Given the description of an element on the screen output the (x, y) to click on. 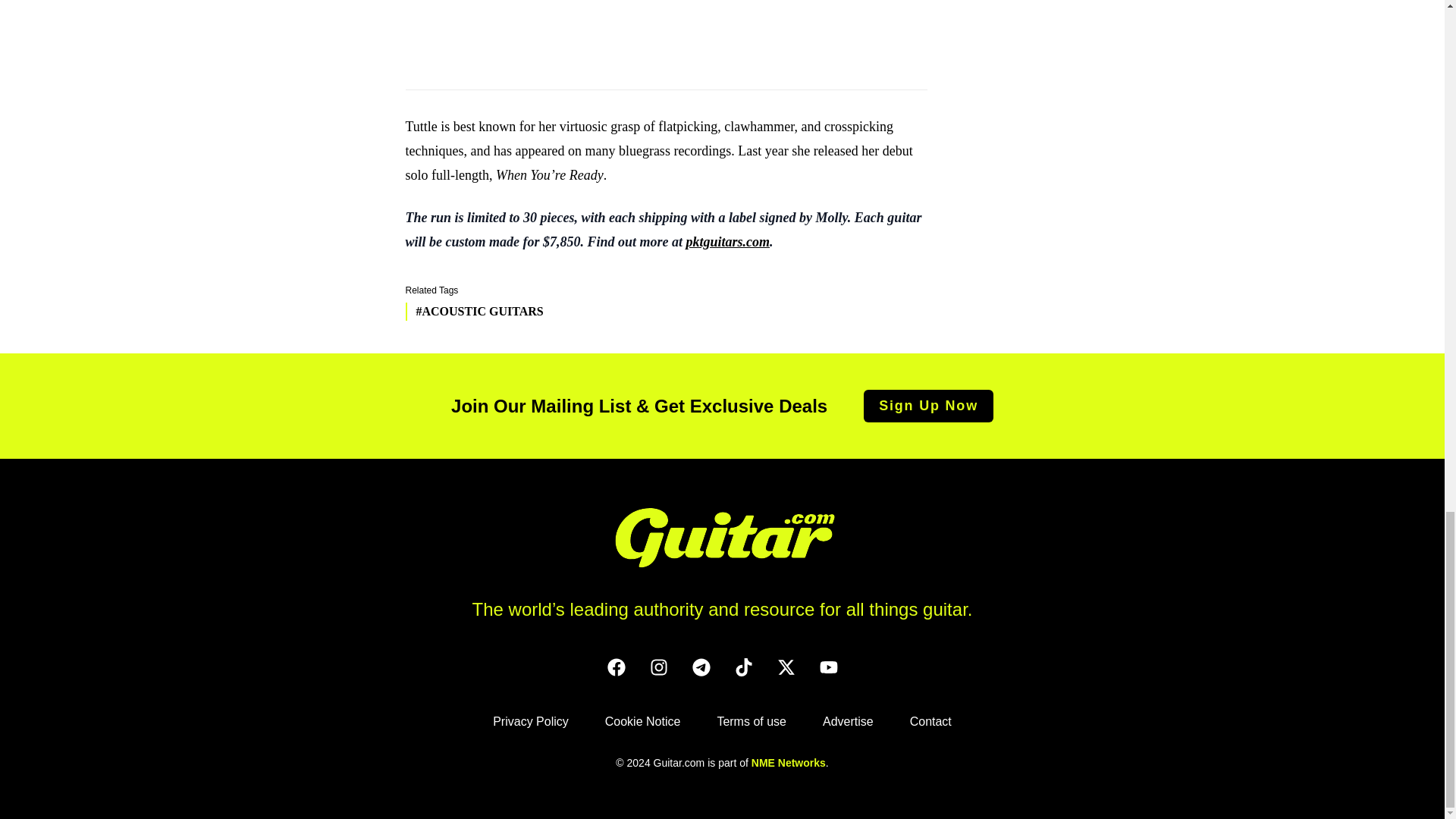
Sign Up Now (927, 405)
pktguitars.com (727, 241)
Acoustic Guitars (473, 311)
